Given the description of an element on the screen output the (x, y) to click on. 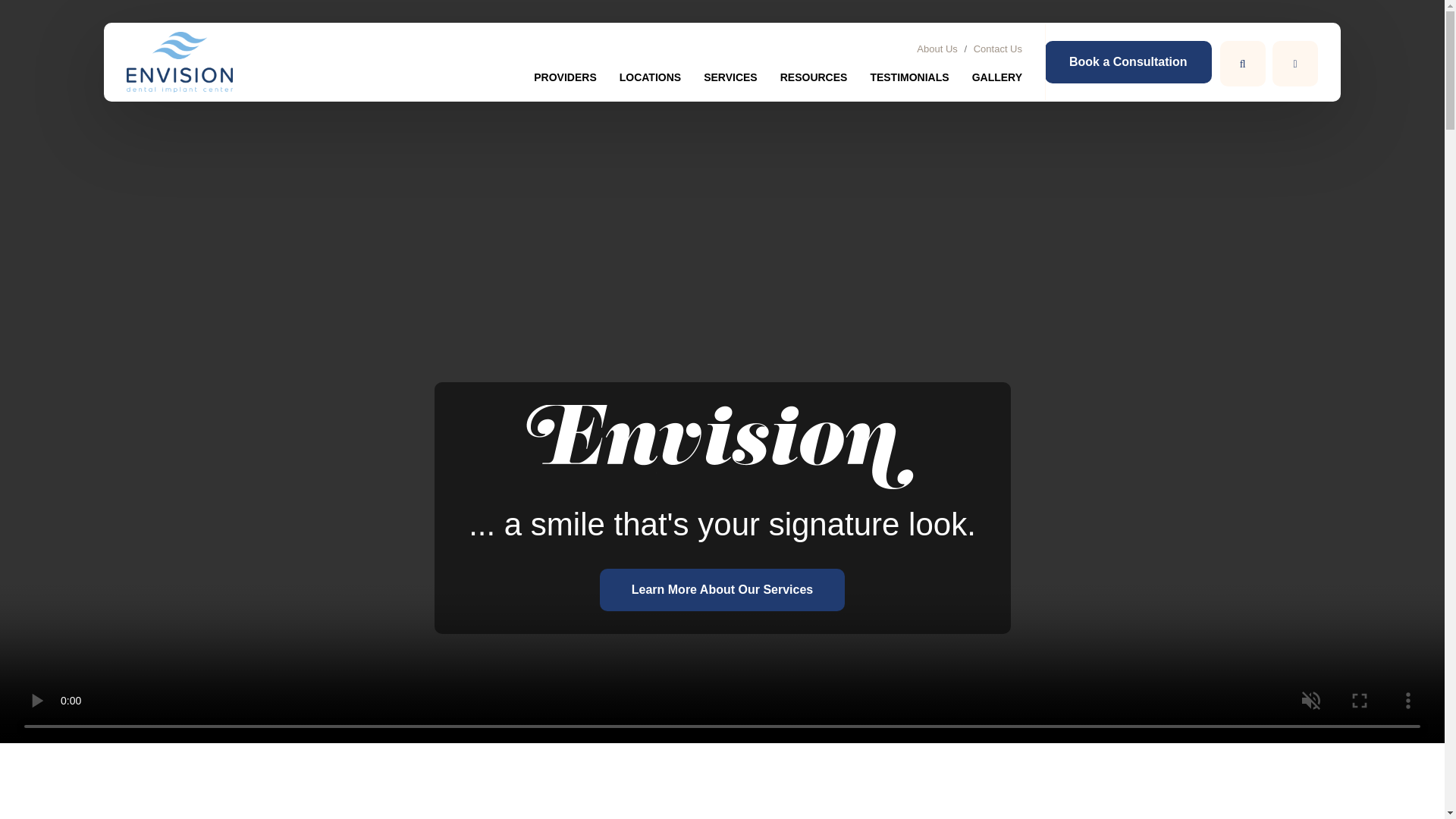
GALLERY (1008, 82)
RESOURCES (825, 82)
Contact Us (997, 48)
About Us (936, 48)
SERVICES (741, 82)
LOCATIONS (661, 82)
PROVIDERS (576, 82)
Book a Consultation (1128, 61)
TESTIMONIALS (920, 82)
